Given the description of an element on the screen output the (x, y) to click on. 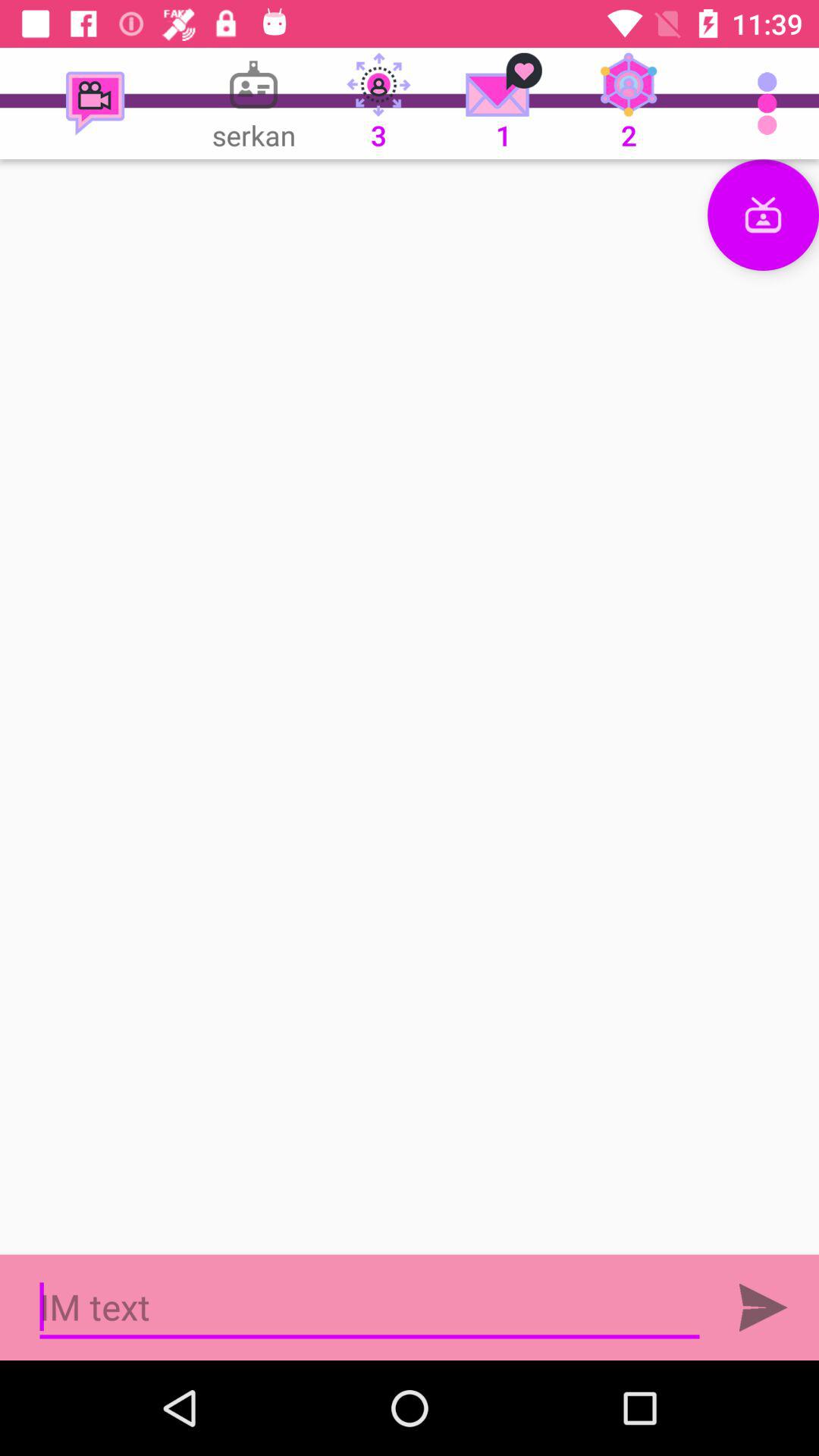
im text search (369, 1307)
